Given the description of an element on the screen output the (x, y) to click on. 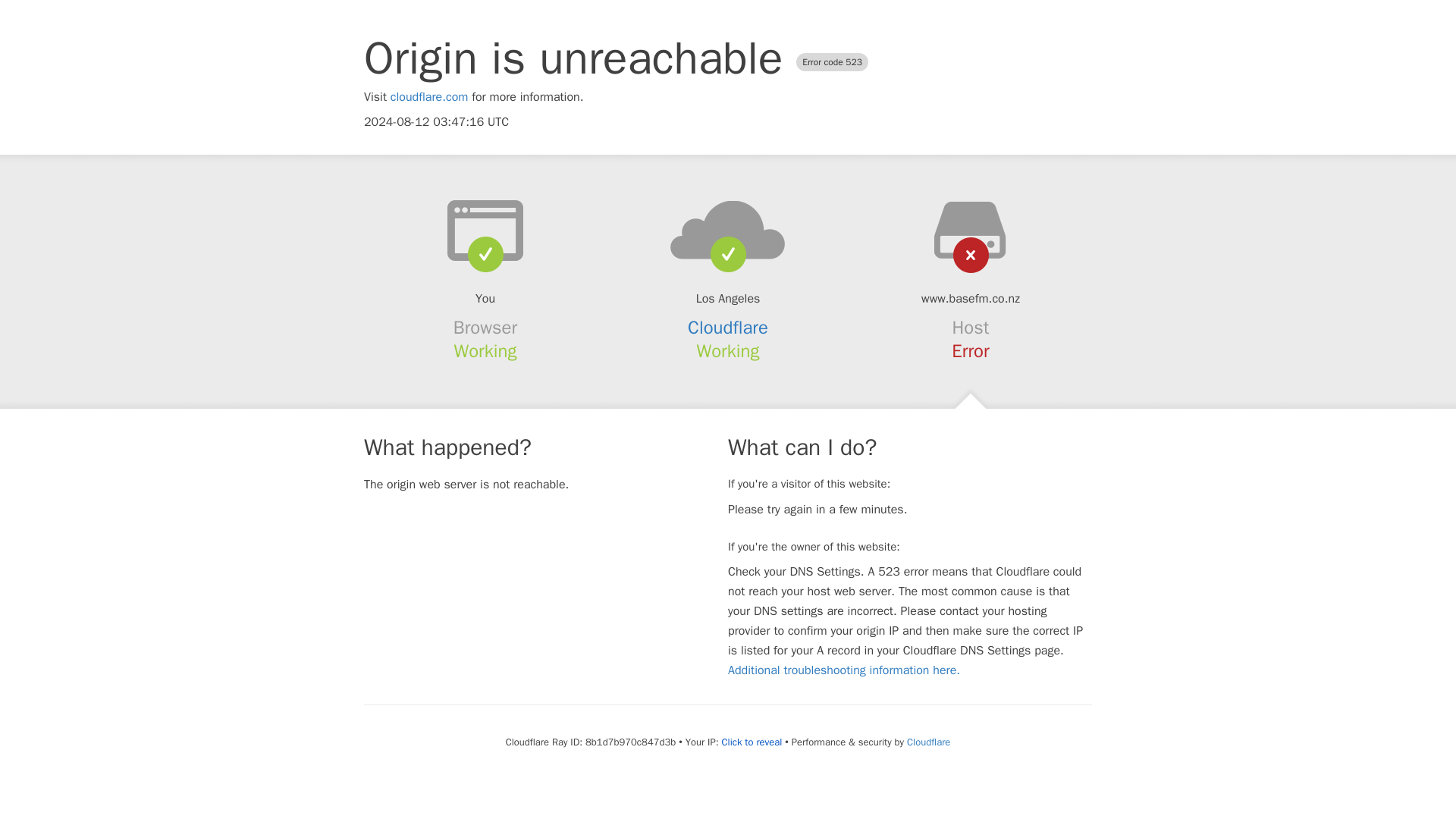
cloudflare.com (429, 96)
Cloudflare (928, 741)
Cloudflare (727, 327)
Click to reveal (750, 742)
Additional troubleshooting information here. (843, 670)
